Given the description of an element on the screen output the (x, y) to click on. 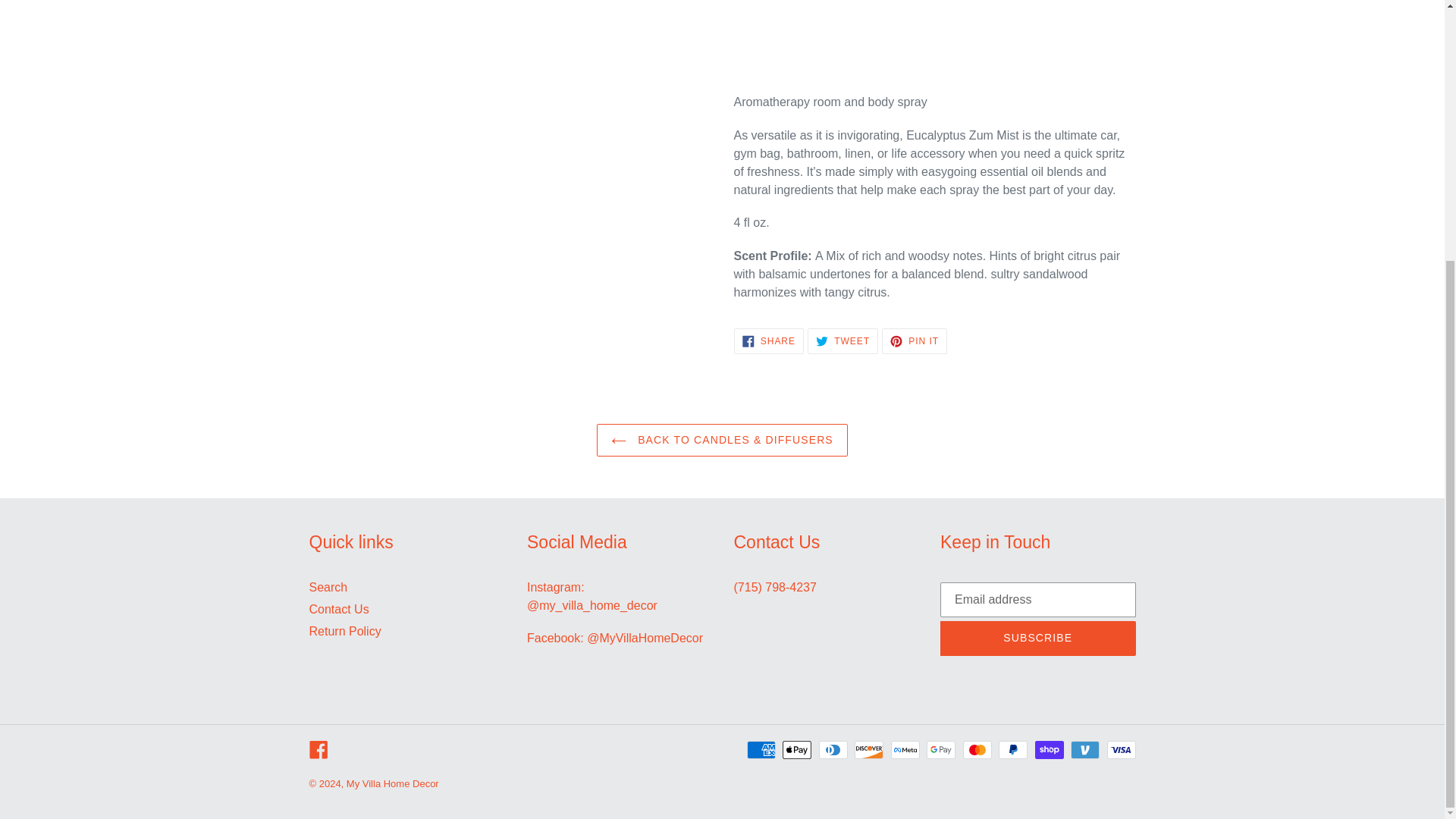
Contact Us (914, 340)
SUBSCRIBE (338, 608)
Facebook (1037, 638)
Return Policy (768, 340)
My Villa Home Decor (318, 749)
Search (344, 631)
